Given the description of an element on the screen output the (x, y) to click on. 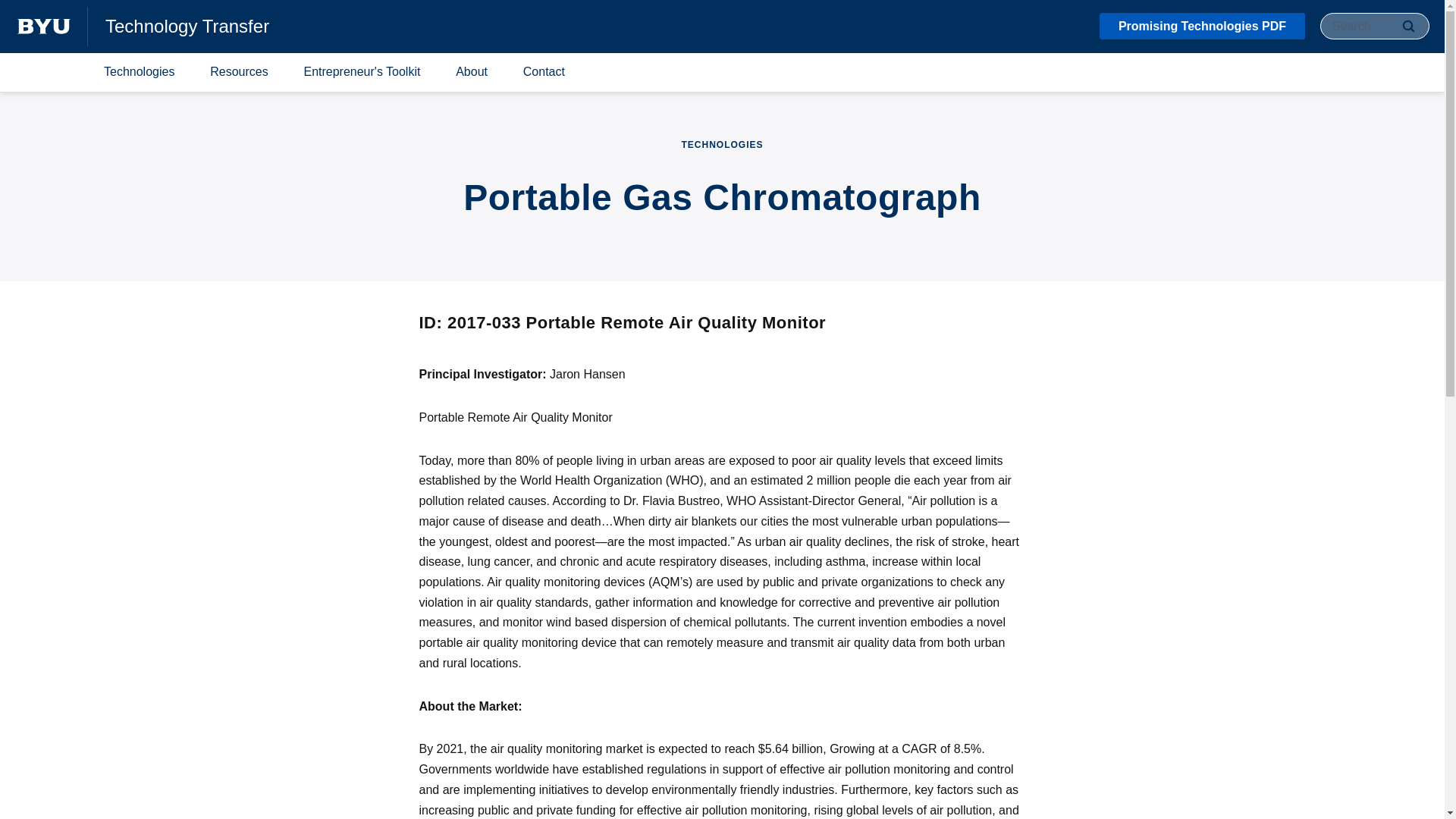
Entrepreneur's Toolkit (361, 73)
Technologies (138, 73)
Contact (543, 73)
Search (1408, 26)
Technology Transfer (186, 25)
About (471, 73)
Promising Technologies PDF (1201, 26)
Resources (238, 73)
